Given the description of an element on the screen output the (x, y) to click on. 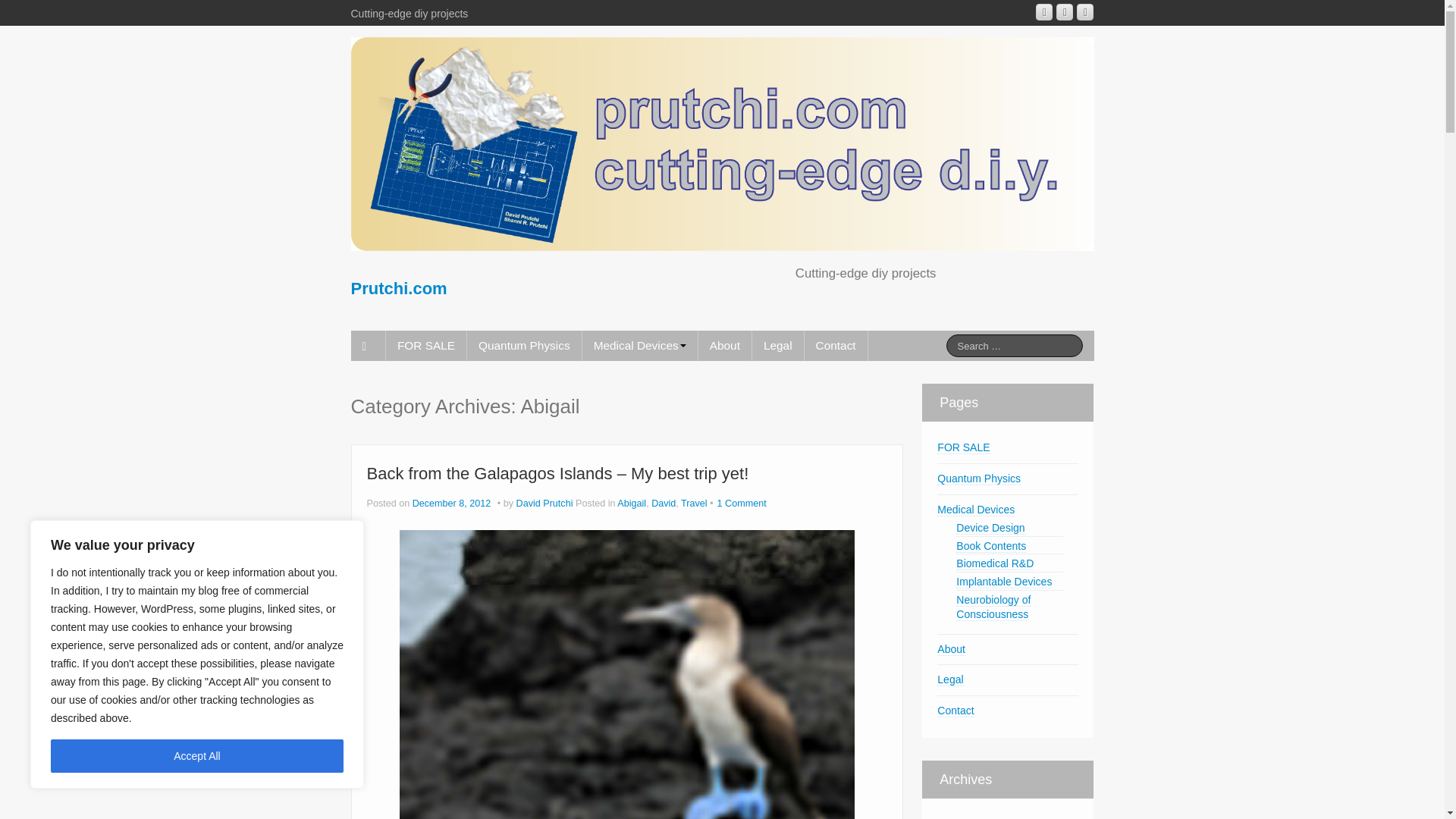
1 Comment (742, 502)
Travel (694, 502)
Prutchi.com (398, 288)
Legal (777, 345)
Contact (836, 345)
1:25 pm (452, 502)
Prutchi.com Twitter (1085, 12)
December 8, 2012 (452, 502)
FOR SALE (425, 345)
Accept All (196, 756)
